Given the description of an element on the screen output the (x, y) to click on. 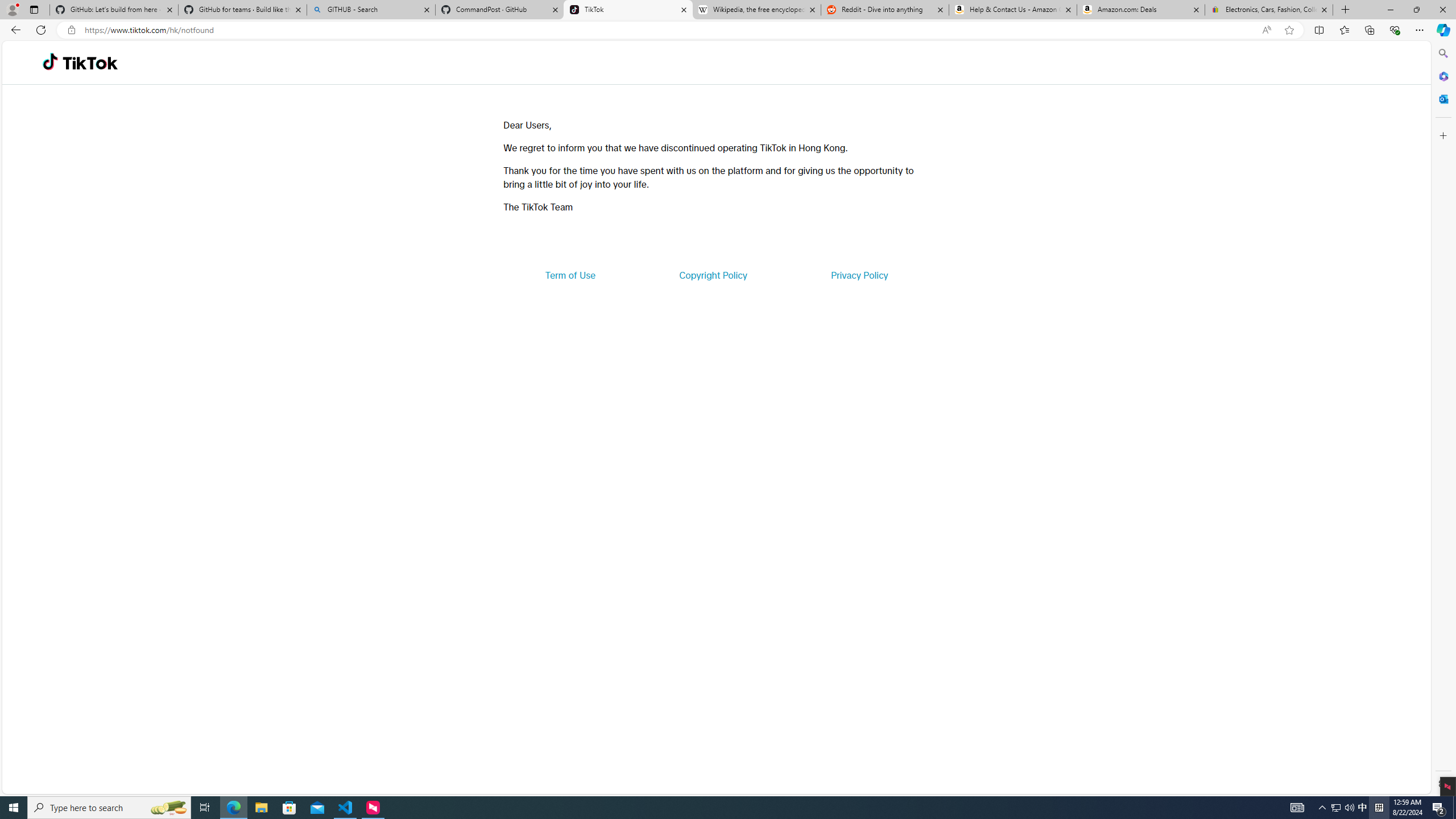
Copyright Policy (712, 274)
